Given the description of an element on the screen output the (x, y) to click on. 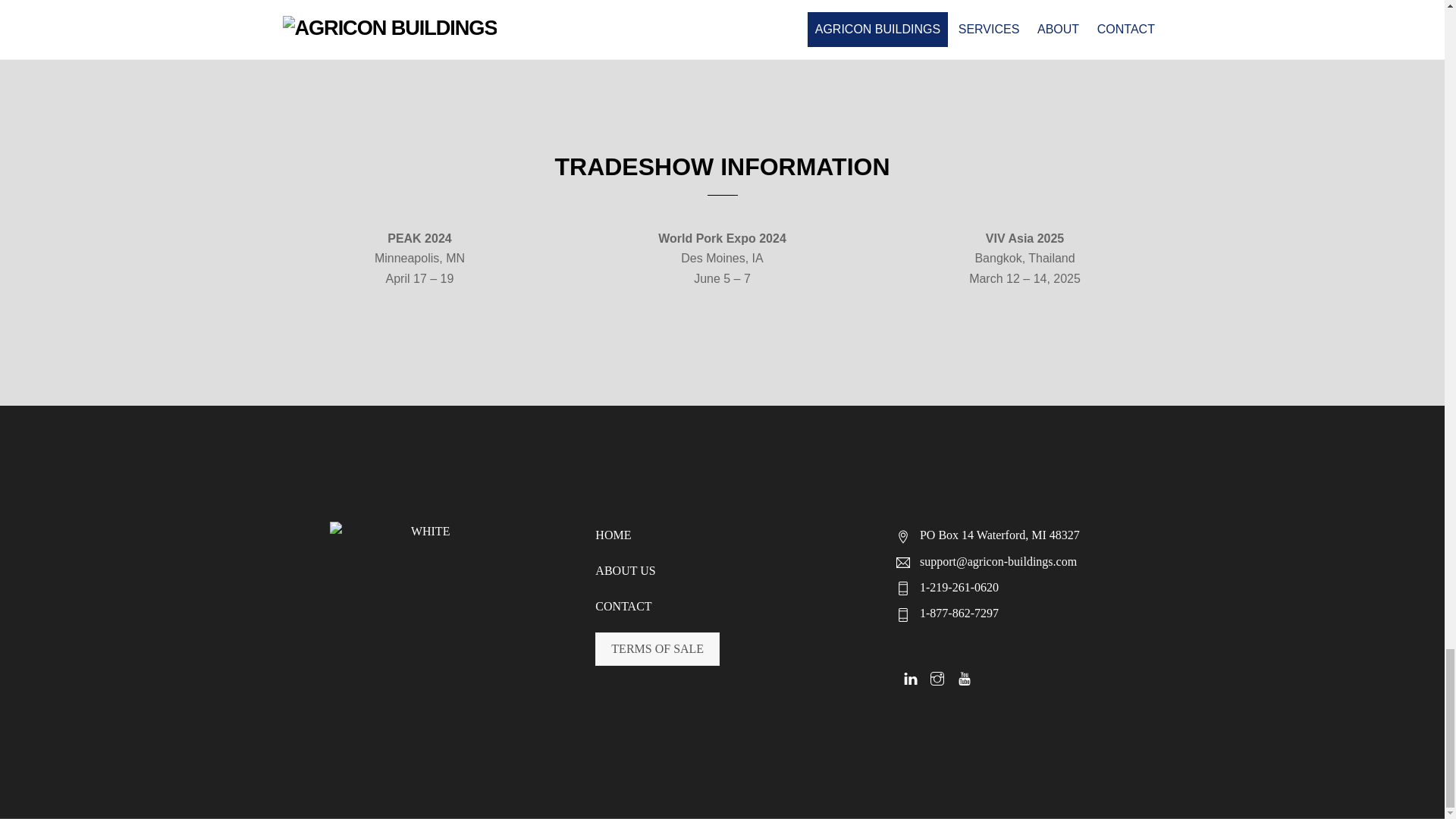
TERMS OF SALE (657, 648)
CONTACT (622, 605)
ABOUT US (625, 570)
TOUR A FREE-RANGE CAGE-FREE HOUSE (1200, 4)
TOUR AN ENRICHED HOUSE (722, 4)
TOUR A COMBI CAGE-FREE HOUSE (243, 4)
HOME (612, 534)
